Given the description of an element on the screen output the (x, y) to click on. 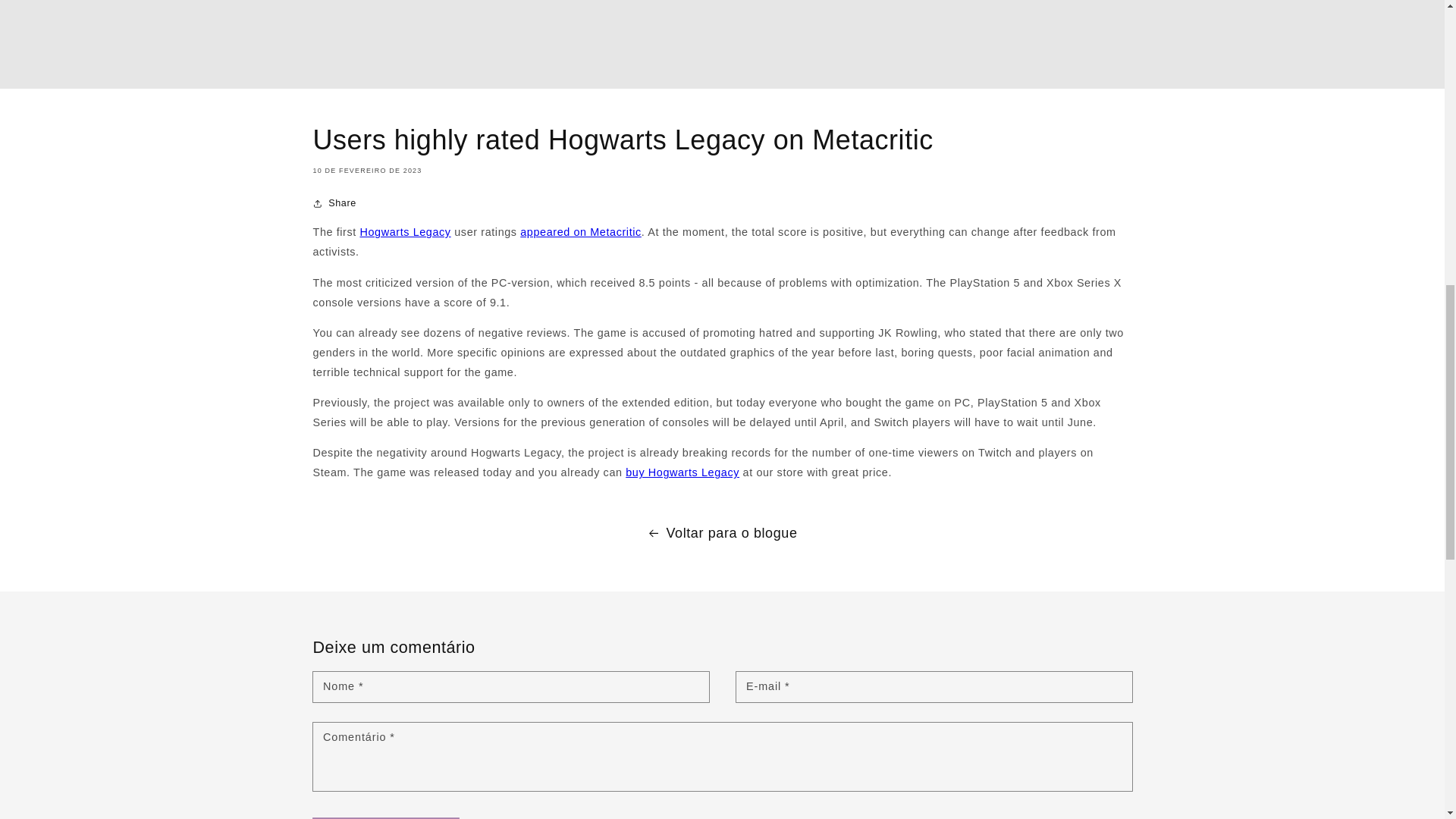
Buy Hogwarts Legacy - Steam Key Global - 95gameshop.com (758, 616)
Hogwarts Legacy for PlayStation 5 Reviews - Metacritic (645, 349)
Buy Hogwarts Legacy - Steam Key Global - 95gameshop.com (449, 349)
